Given the description of an element on the screen output the (x, y) to click on. 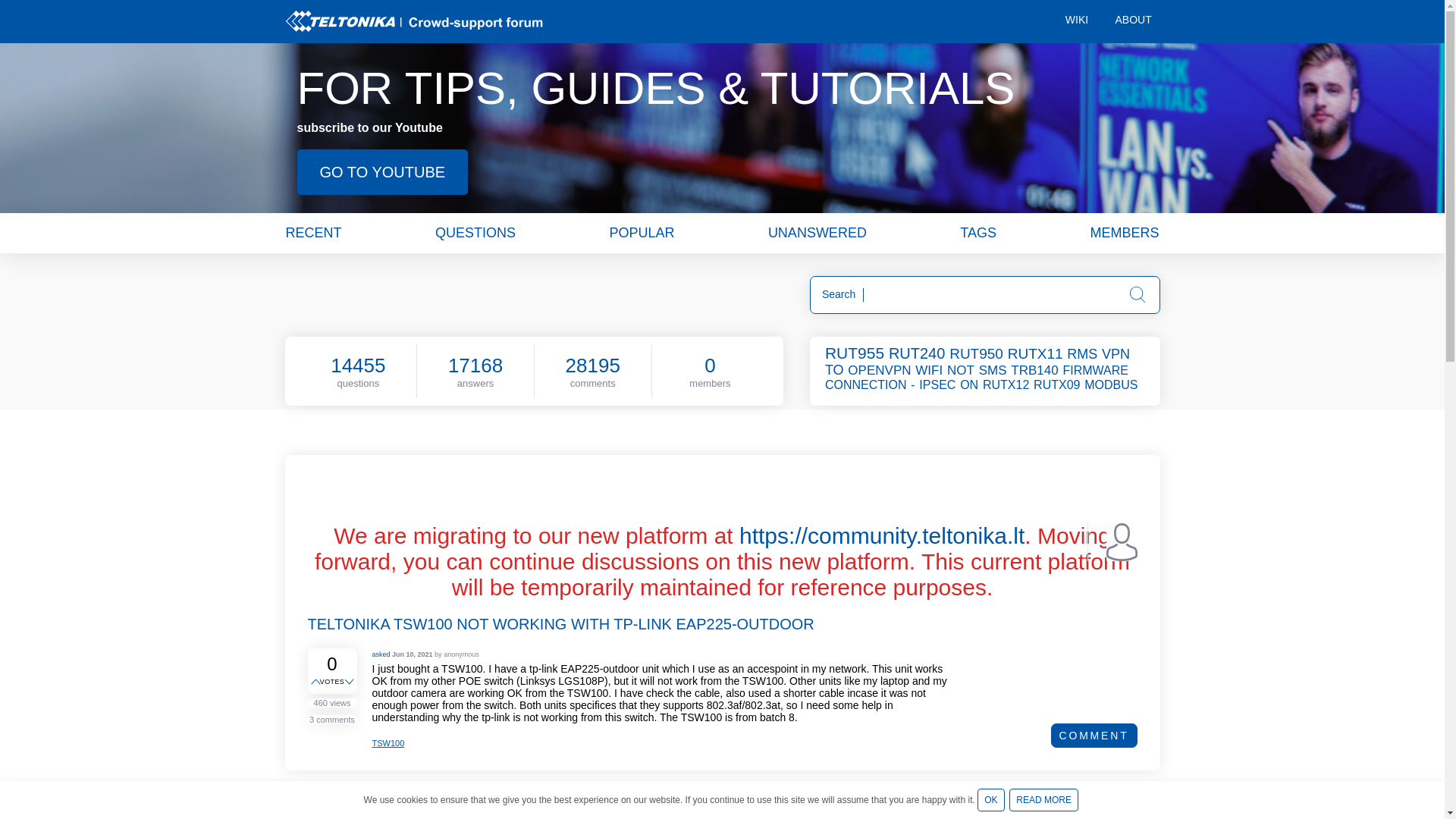
MEMBERS (1123, 232)
RUTX12 (1006, 384)
RMS (1083, 353)
ON (969, 384)
answer (728, 816)
RUTX11 (1036, 353)
TELTONIKA TSW100 NOT WORKING WITH TP-LINK EAP225-OUTDOOR (560, 623)
Search (1137, 294)
RUT955 (855, 352)
QUESTIONS (475, 232)
NOT (961, 370)
RECENT (312, 232)
SMS (993, 370)
Search (1137, 294)
FIRMWARE (1096, 369)
